Given the description of an element on the screen output the (x, y) to click on. 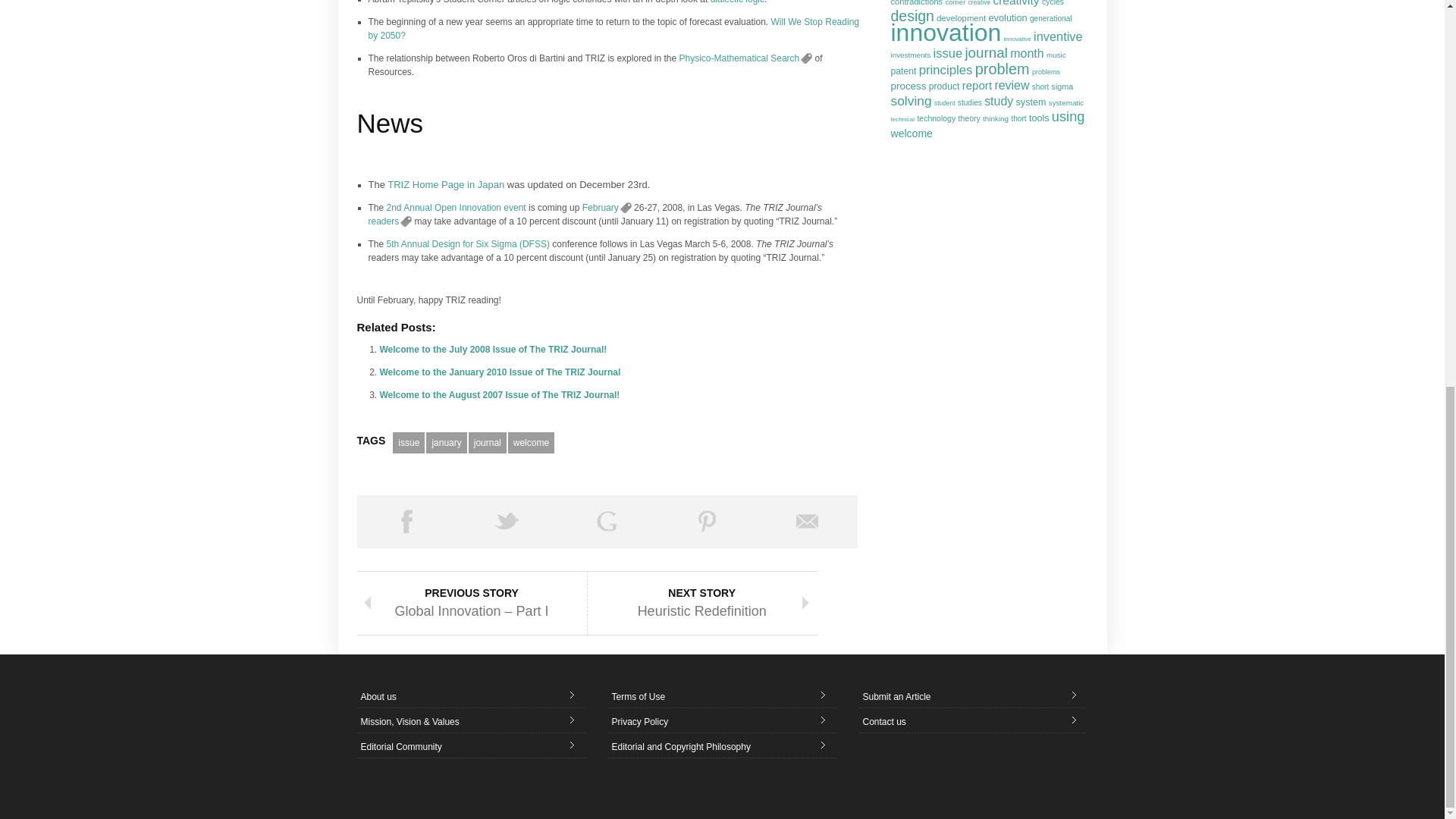
Welcome to the January 2010 Issue of The TRIZ Journal (499, 371)
Welcome to the July 2008 Issue of The TRIZ Journal! (492, 348)
Welcome to the August 2007 Issue of The TRIZ Journal! (499, 394)
